Given the description of an element on the screen output the (x, y) to click on. 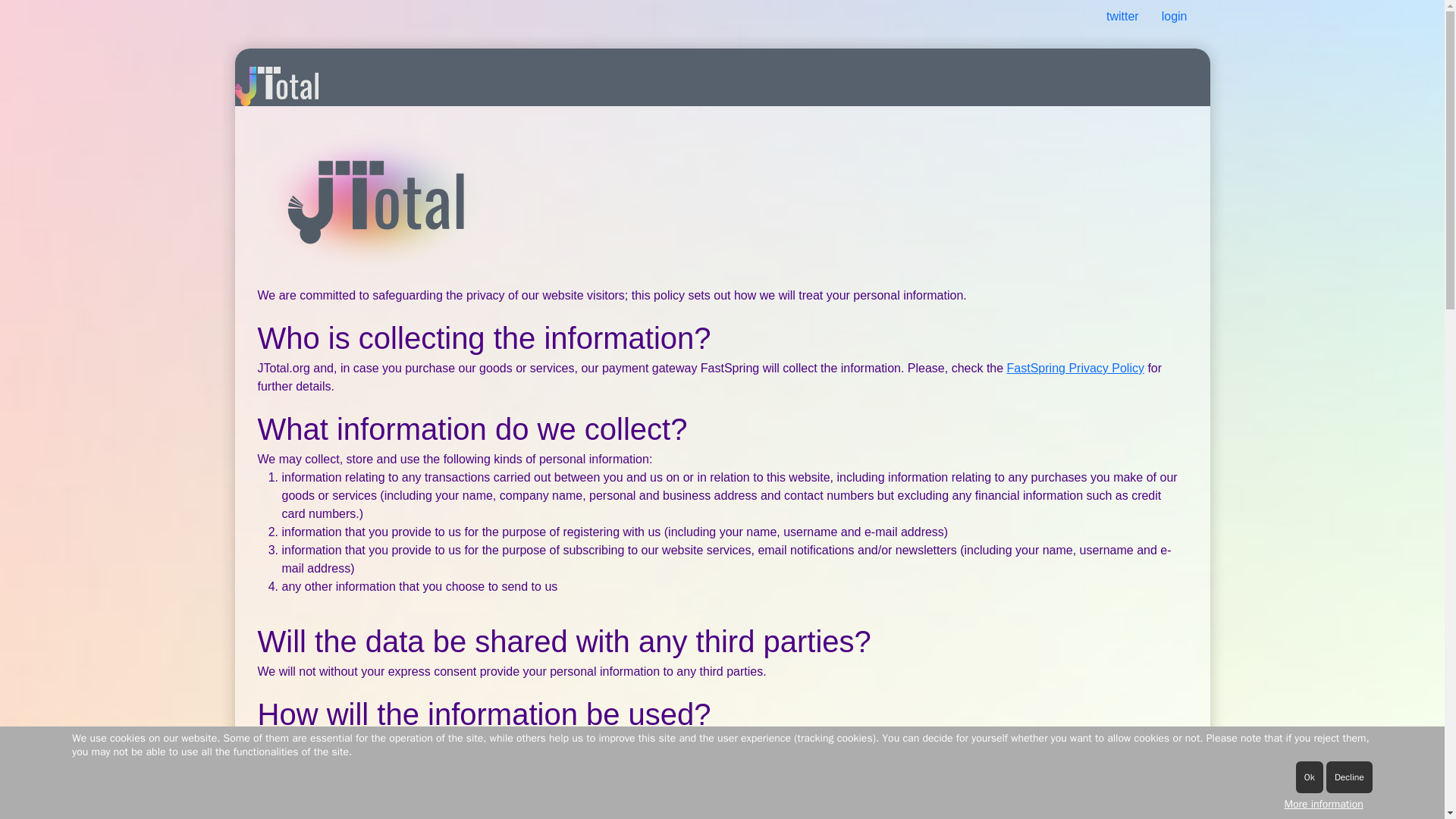
FastSpring Privacy Policy (1075, 367)
login (1174, 16)
twitter (1122, 16)
